Given the description of an element on the screen output the (x, y) to click on. 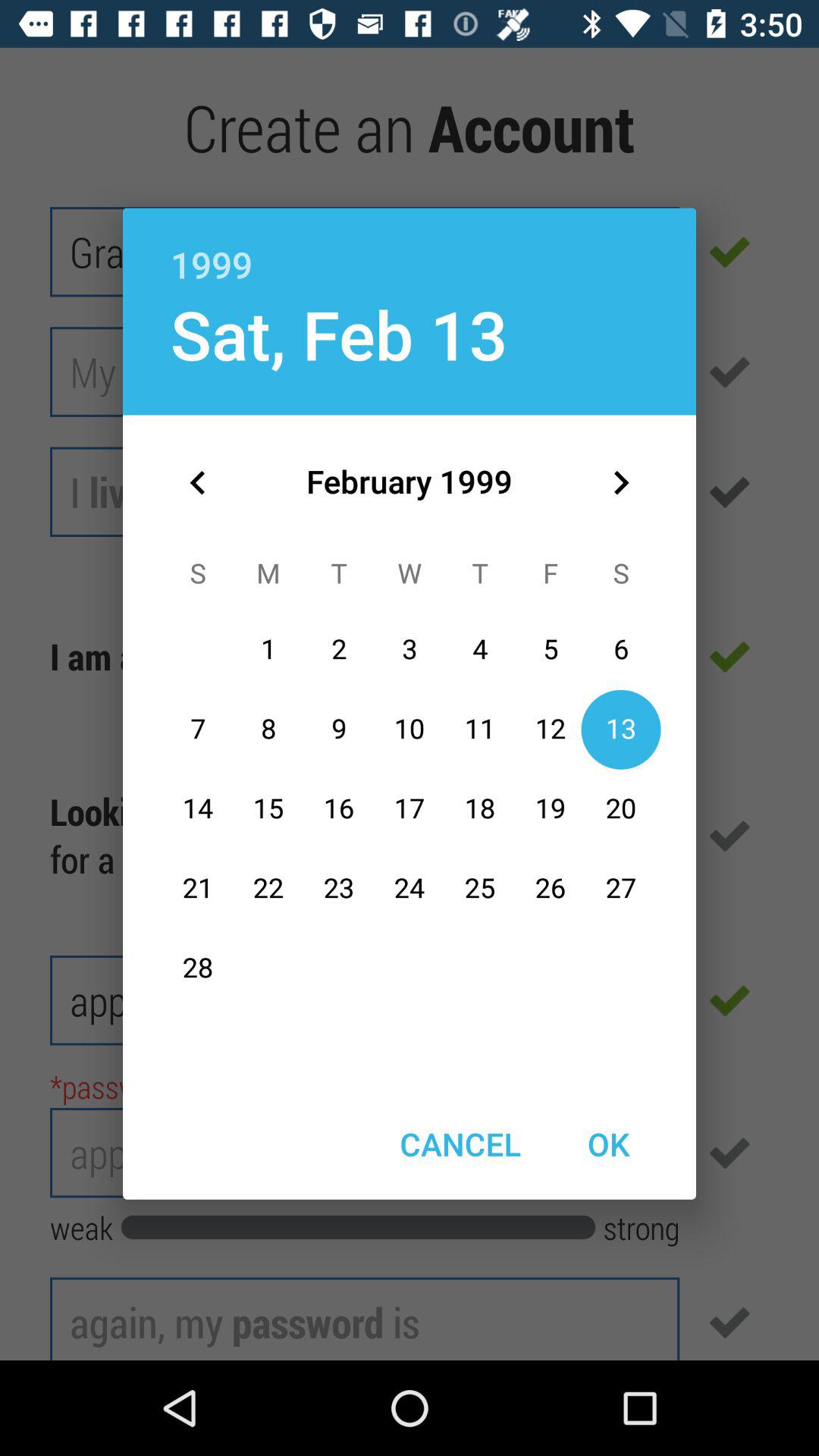
click sat, feb 13 item (338, 333)
